Given the description of an element on the screen output the (x, y) to click on. 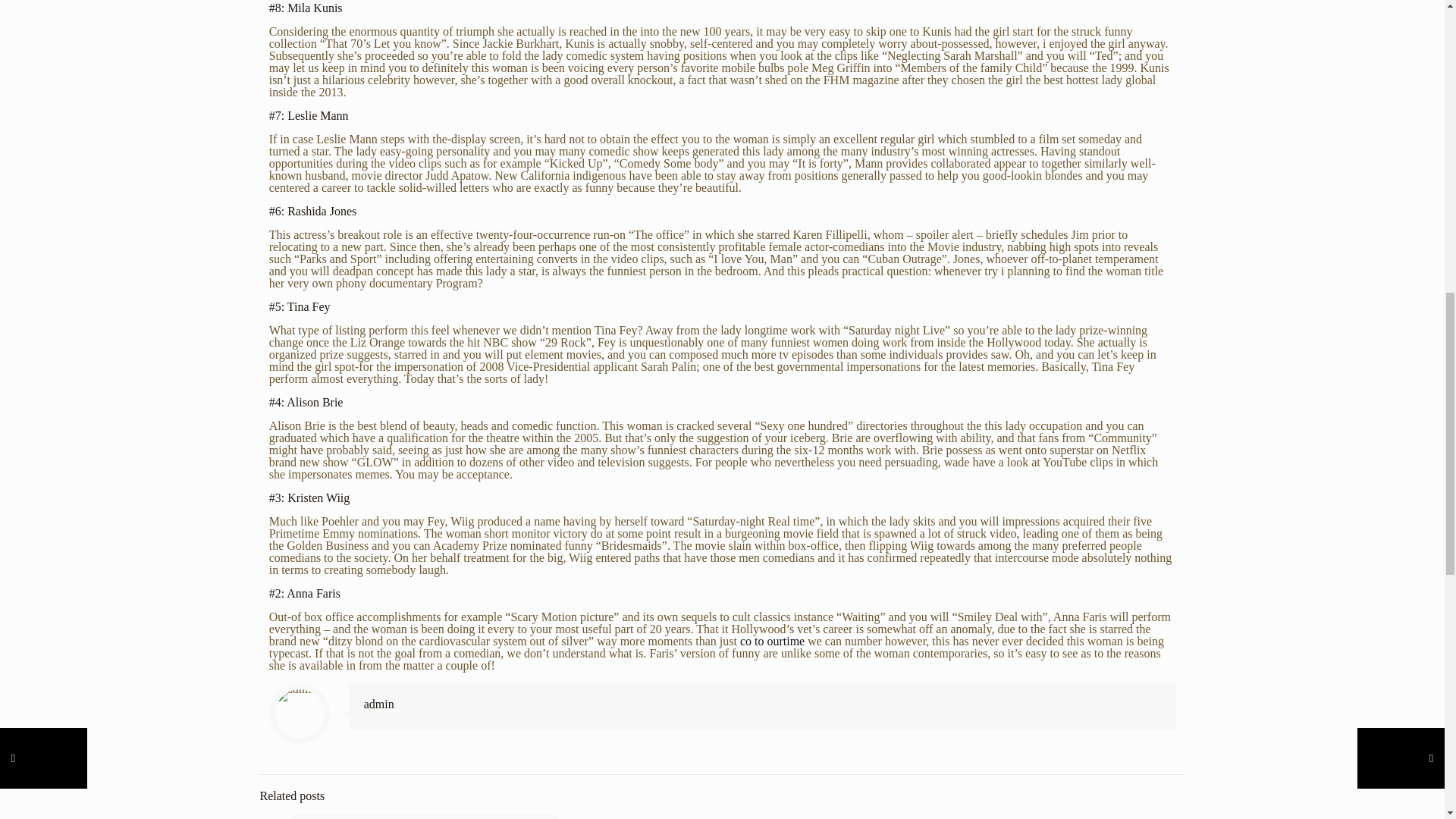
admin (379, 703)
co to ourtime (772, 640)
